Given the description of an element on the screen output the (x, y) to click on. 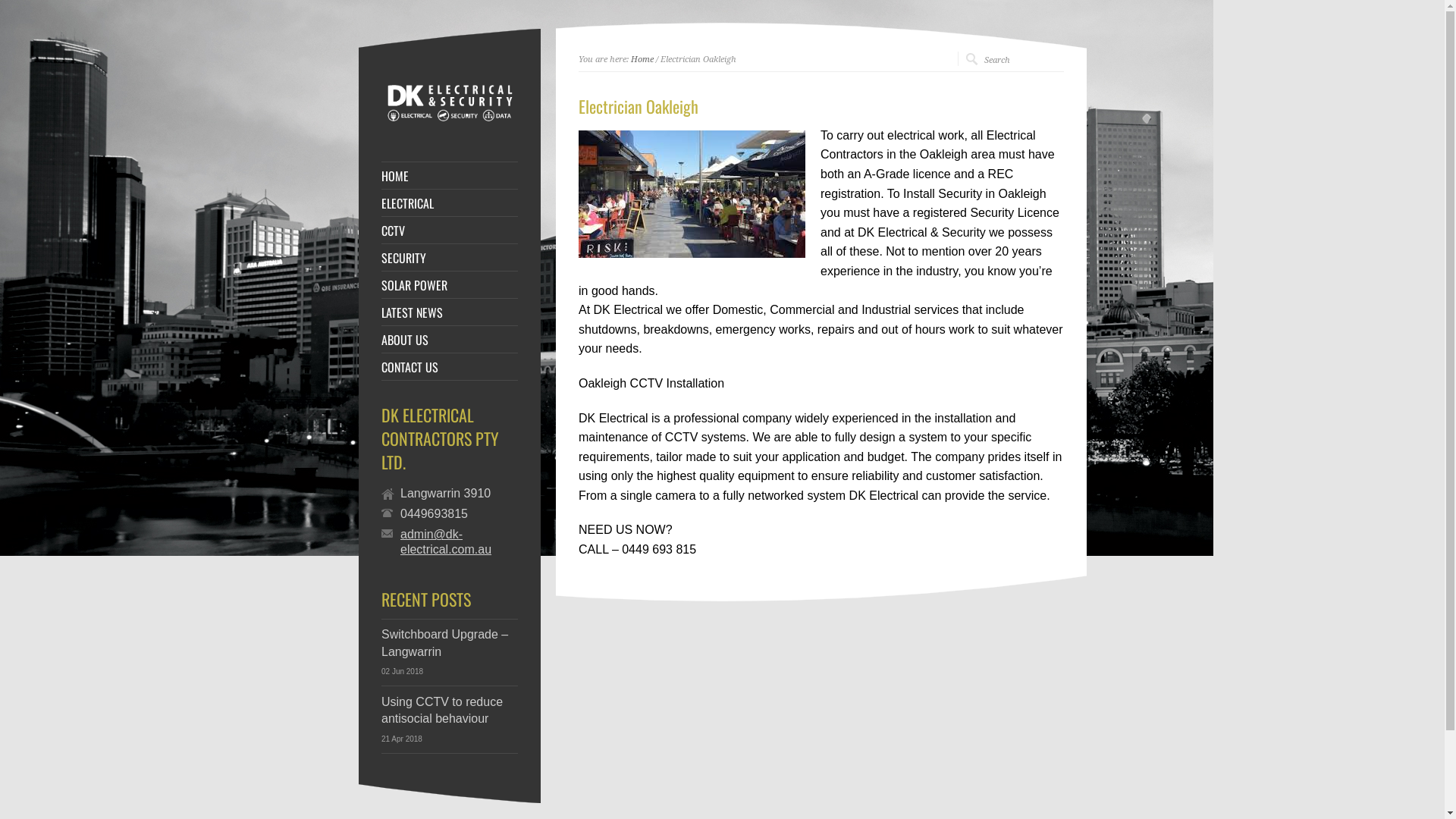
SOLAR POWER Element type: text (449, 285)
ELECTRICAL Element type: text (449, 203)
SECURITY Element type: text (449, 257)
ABOUT US Element type: text (449, 339)
HOME Element type: text (449, 175)
Using CCTV to reduce antisocial behaviour Element type: text (441, 709)
CONTACT US Element type: text (449, 366)
LATEST NEWS Element type: text (449, 312)
Home Element type: text (641, 59)
CCTV Element type: text (449, 230)
admin@dk-electrical.com.au Element type: text (458, 542)
